Given the description of an element on the screen output the (x, y) to click on. 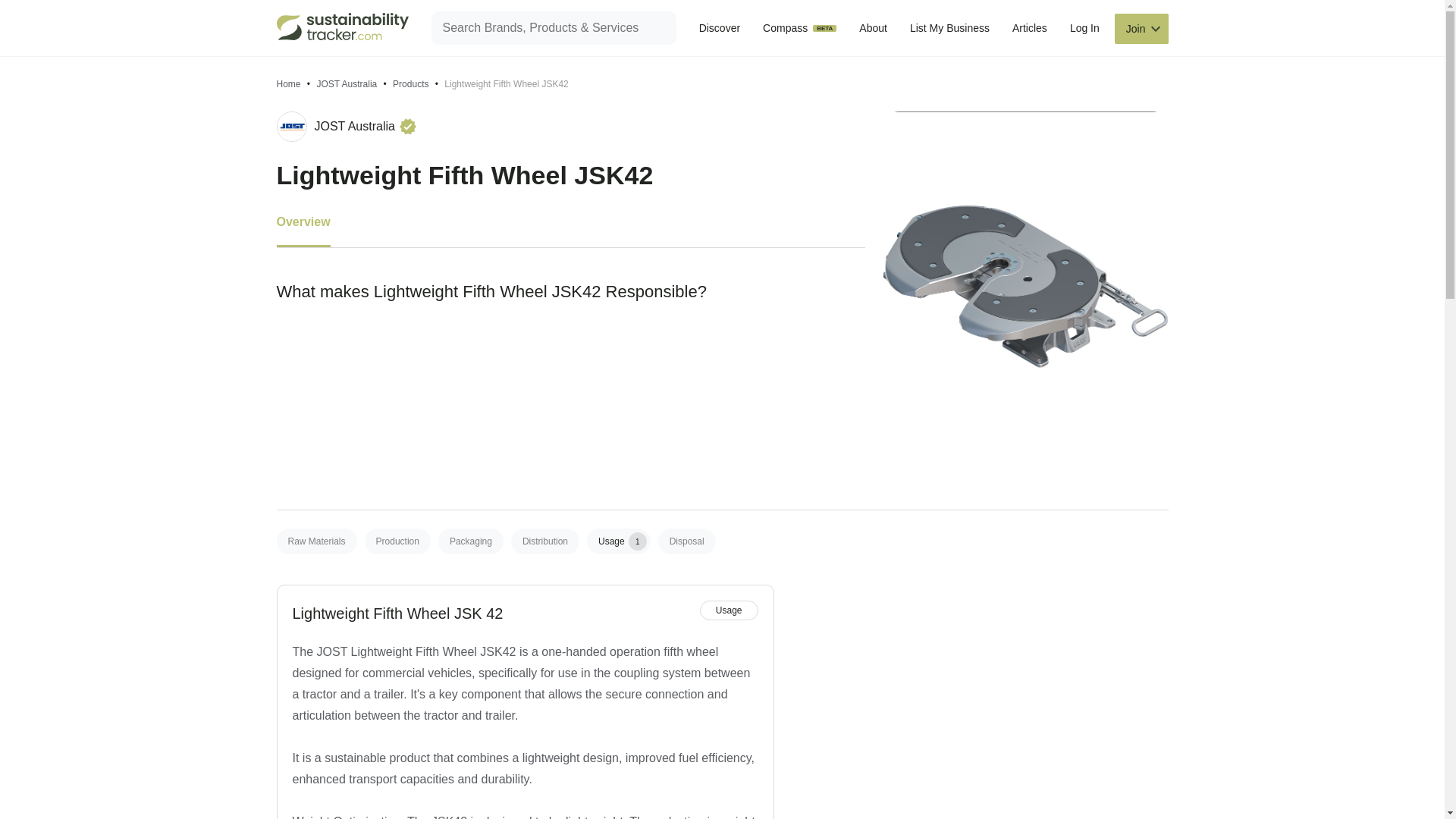
Discover (718, 28)
